Given the description of an element on the screen output the (x, y) to click on. 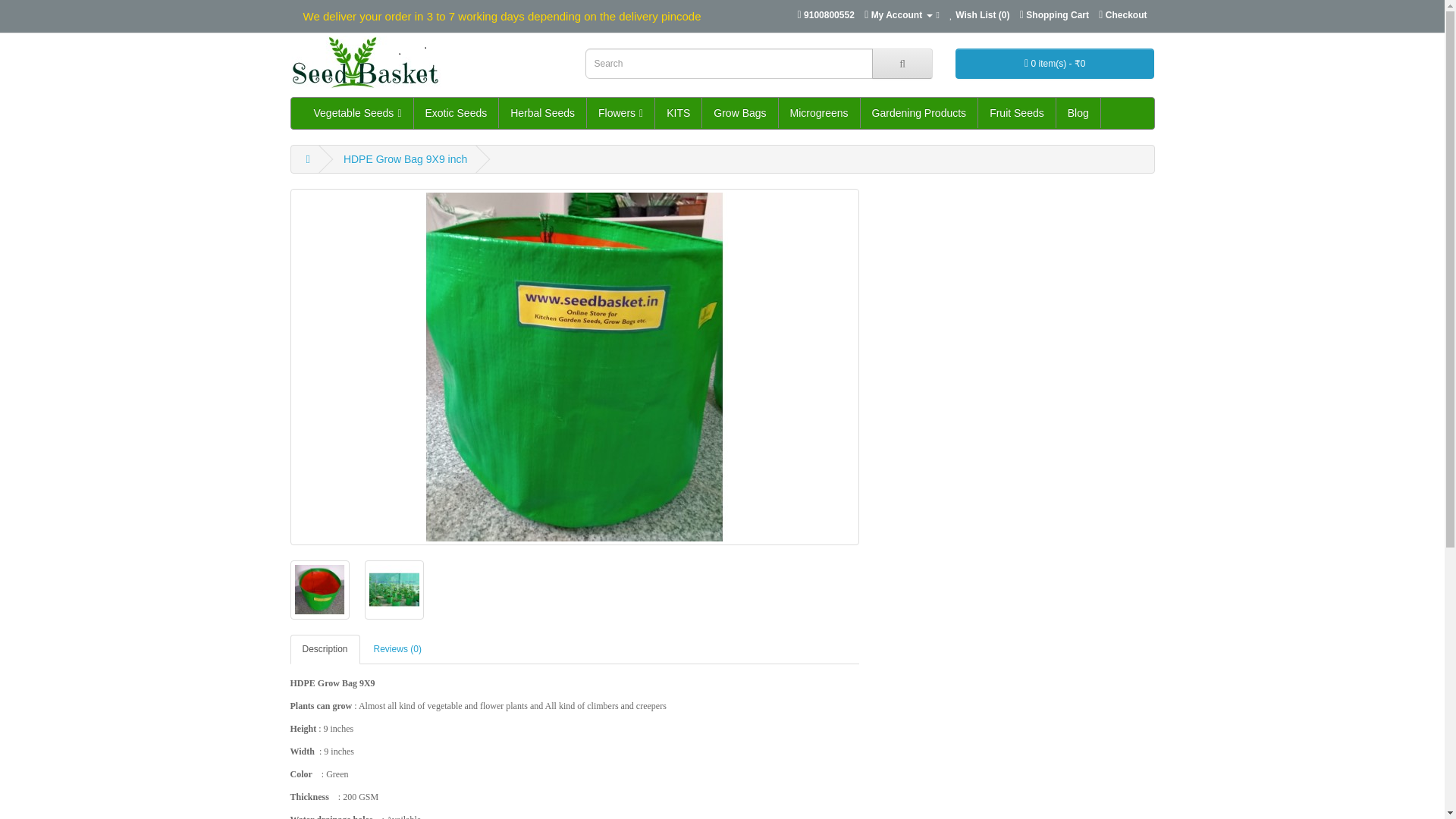
Seed Basket (368, 62)
Shopping Cart (1054, 14)
Checkout (1123, 14)
Exotic Seeds (456, 112)
Microgreens (819, 112)
KITS (678, 112)
Fruit Seeds (1016, 112)
Flowers (619, 112)
Herbal Seeds (542, 112)
